Given the description of an element on the screen output the (x, y) to click on. 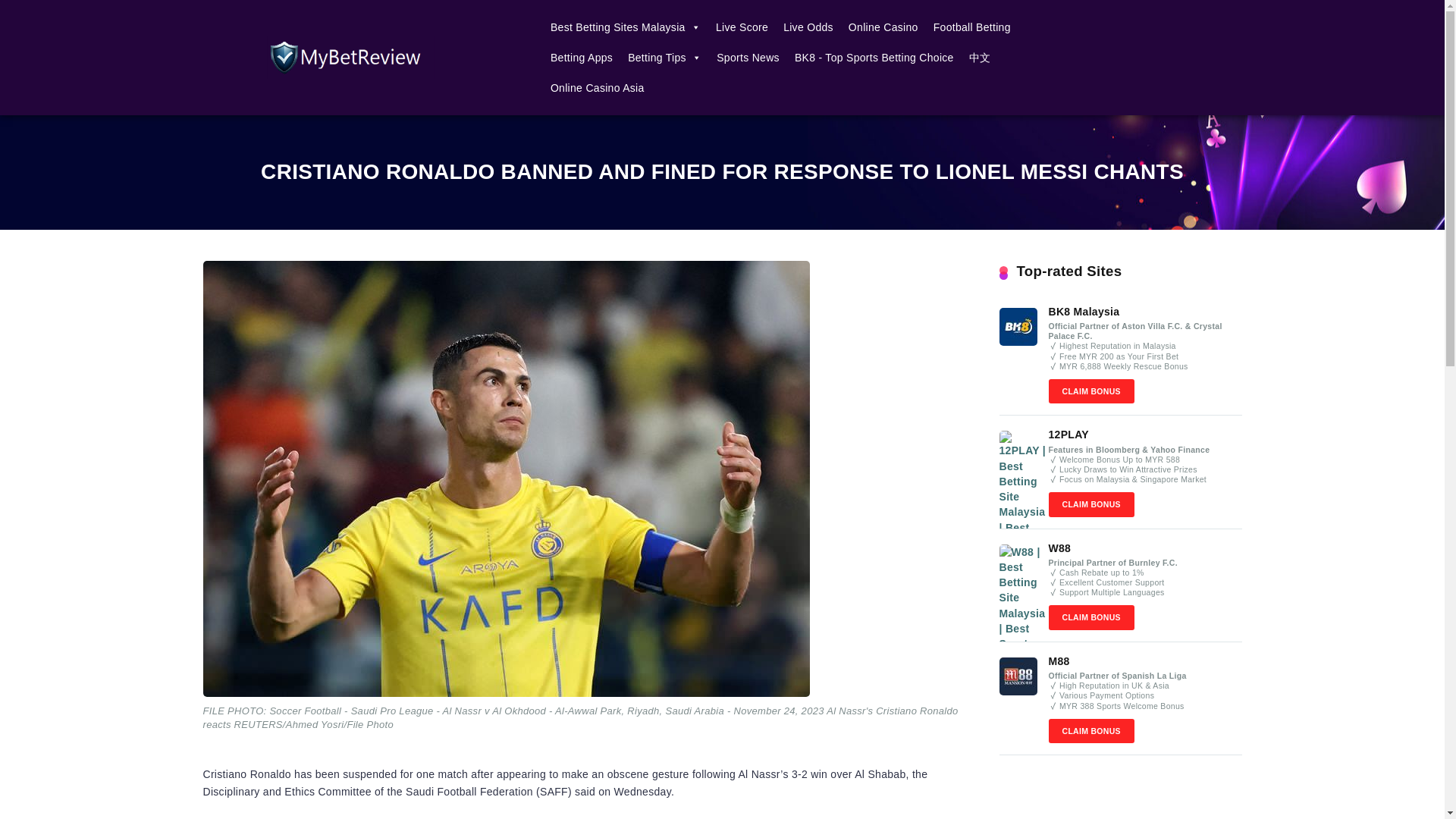
12PLAY (1067, 434)
BK8 Malaysia (1083, 311)
Football Betting (971, 27)
Sports News (748, 57)
BK8 - Top Sports Betting Choice (873, 57)
Online Casino Asia (597, 87)
Best Betting Sites Malaysia (625, 27)
Live Score (741, 27)
Betting Tips (664, 57)
Online Casino (883, 27)
